Given the description of an element on the screen output the (x, y) to click on. 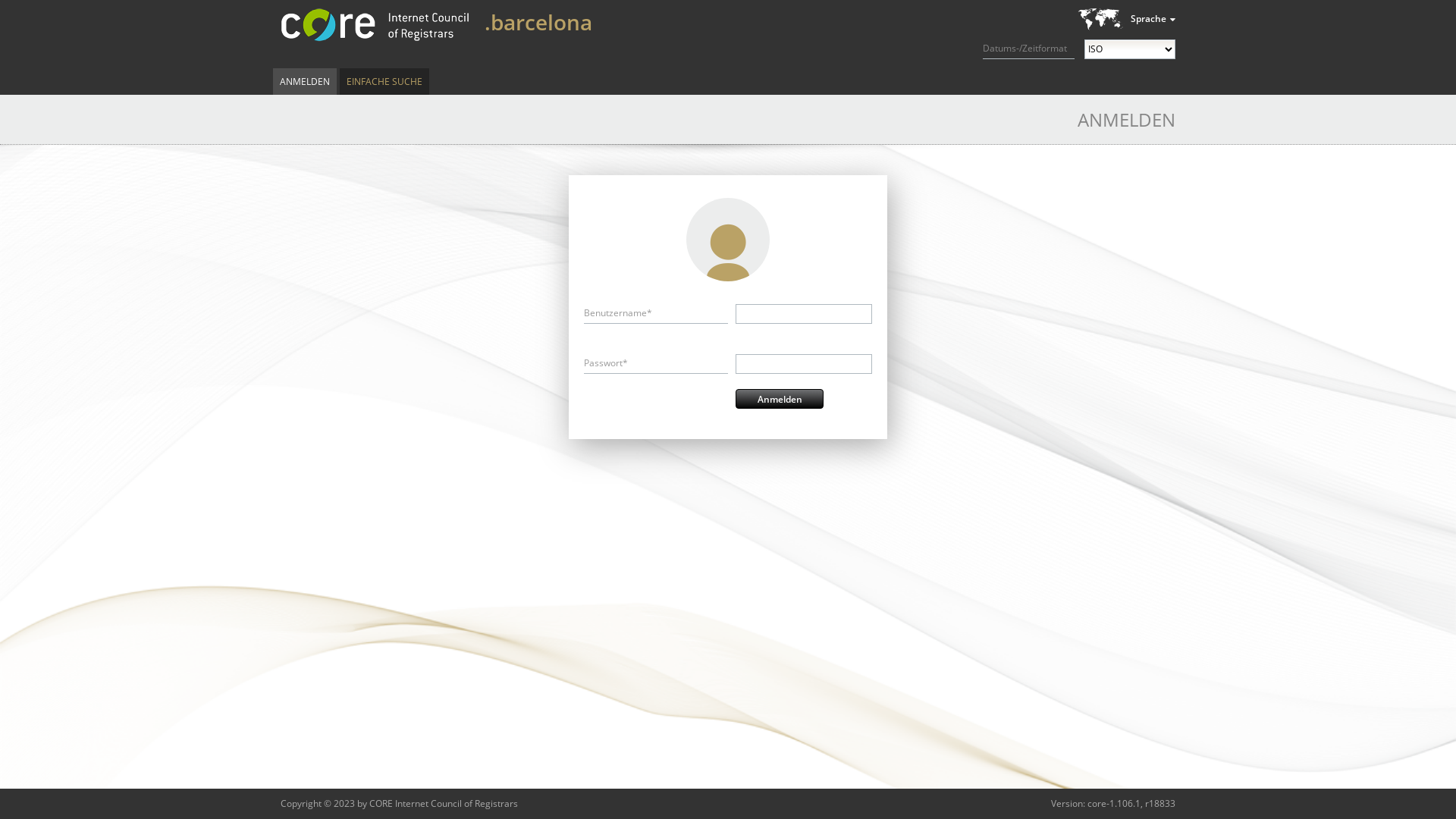
ANMELDEN Element type: text (304, 81)
English Element type: text (1078, 42)
EINFACHE SUCHE Element type: text (384, 81)
Anmelden Element type: text (779, 398)
